Given the description of an element on the screen output the (x, y) to click on. 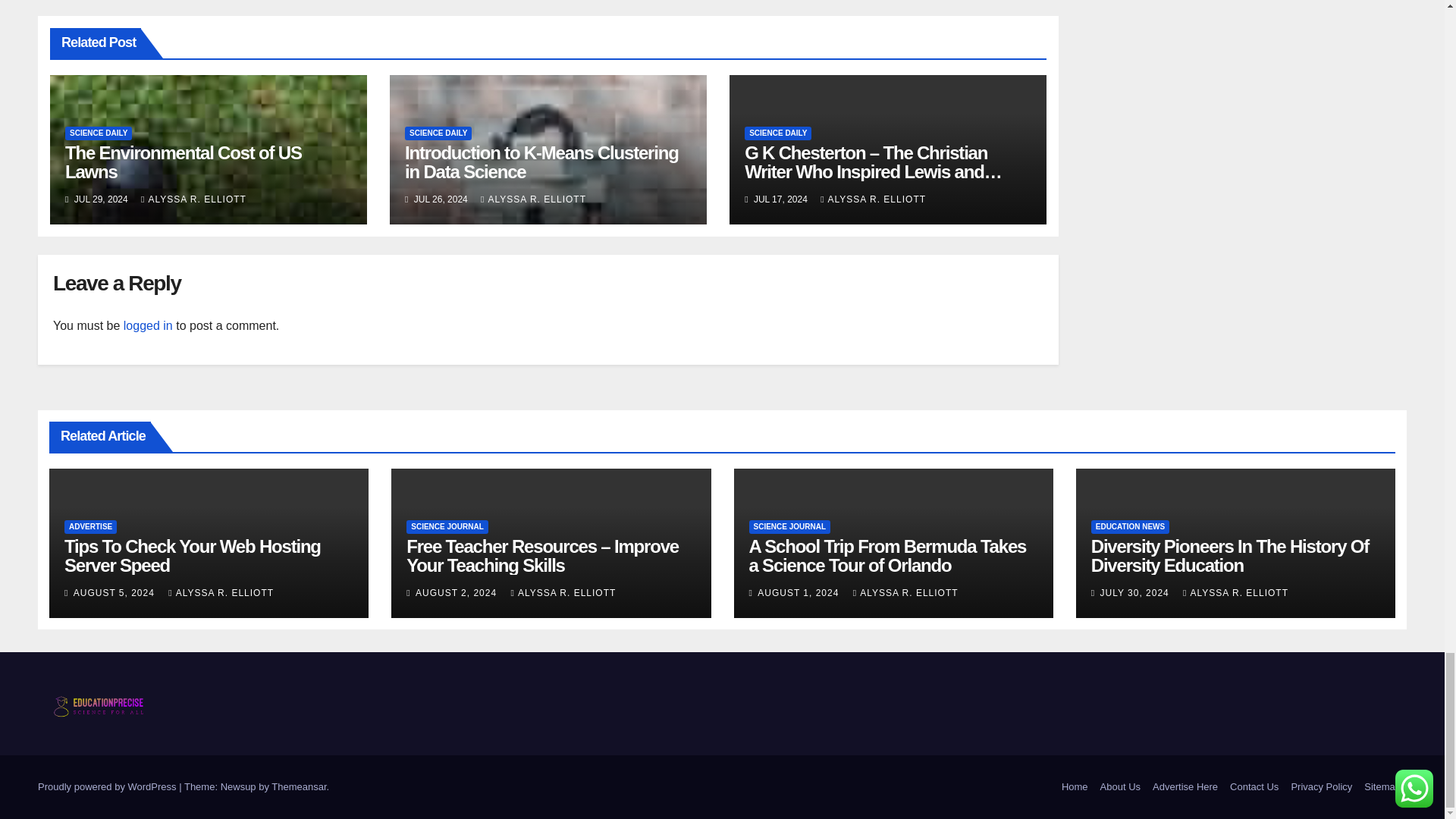
The Environmental Cost of US Lawns (183, 161)
SCIENCE DAILY (98, 133)
Permalink to: The Environmental Cost of US Lawns (183, 161)
